Given the description of an element on the screen output the (x, y) to click on. 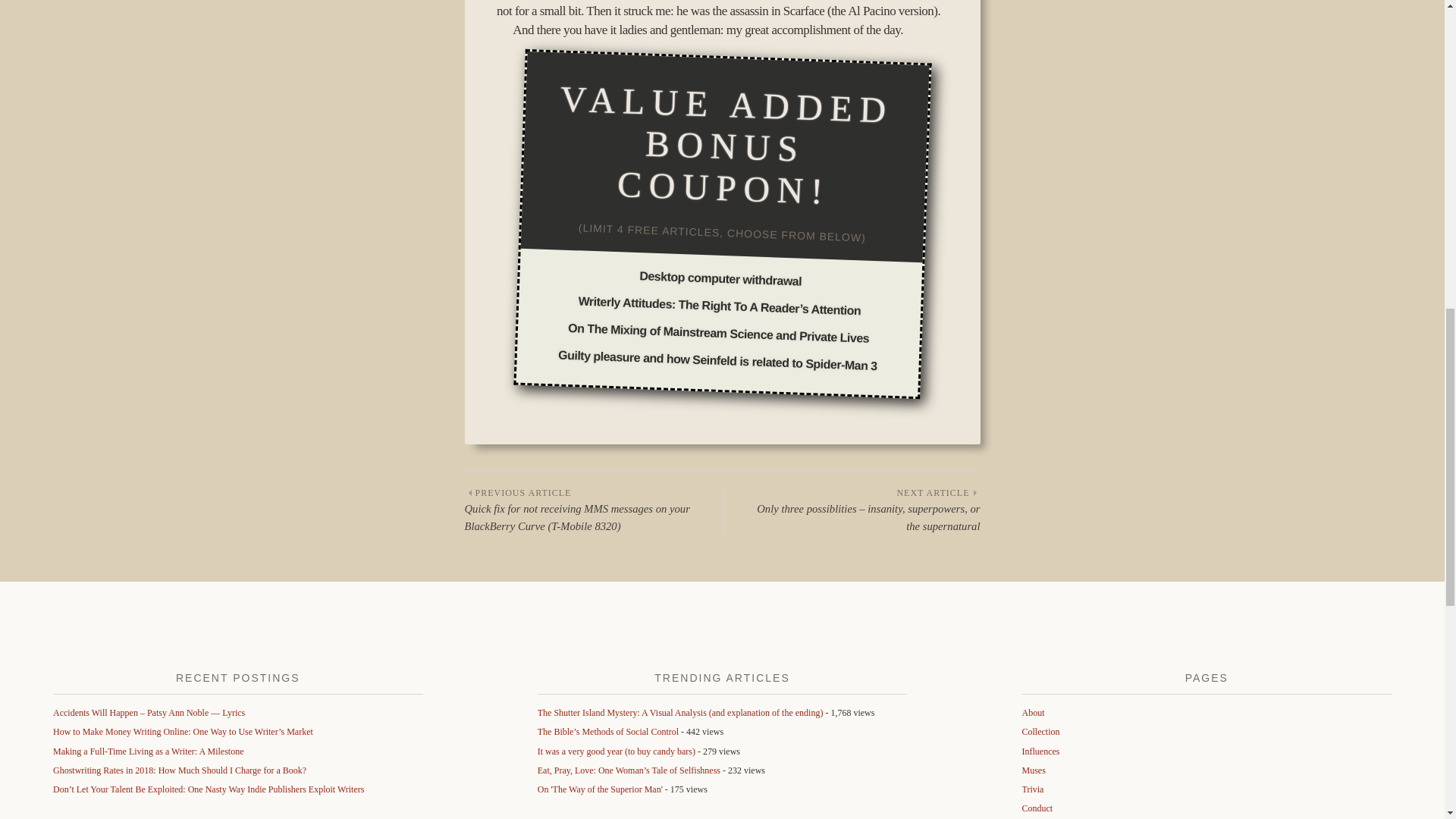
On 'The Way of the Superior Man' (599, 788)
Making a Full-Time Living as a Writer: A Milestone (148, 751)
Desktop computer withdrawal (720, 276)
Guilty pleasure and how Seinfeld is related to Spider-Man 3 (717, 354)
On The Mixing of Mainstream Science and Private Lives (718, 327)
